Given the description of an element on the screen output the (x, y) to click on. 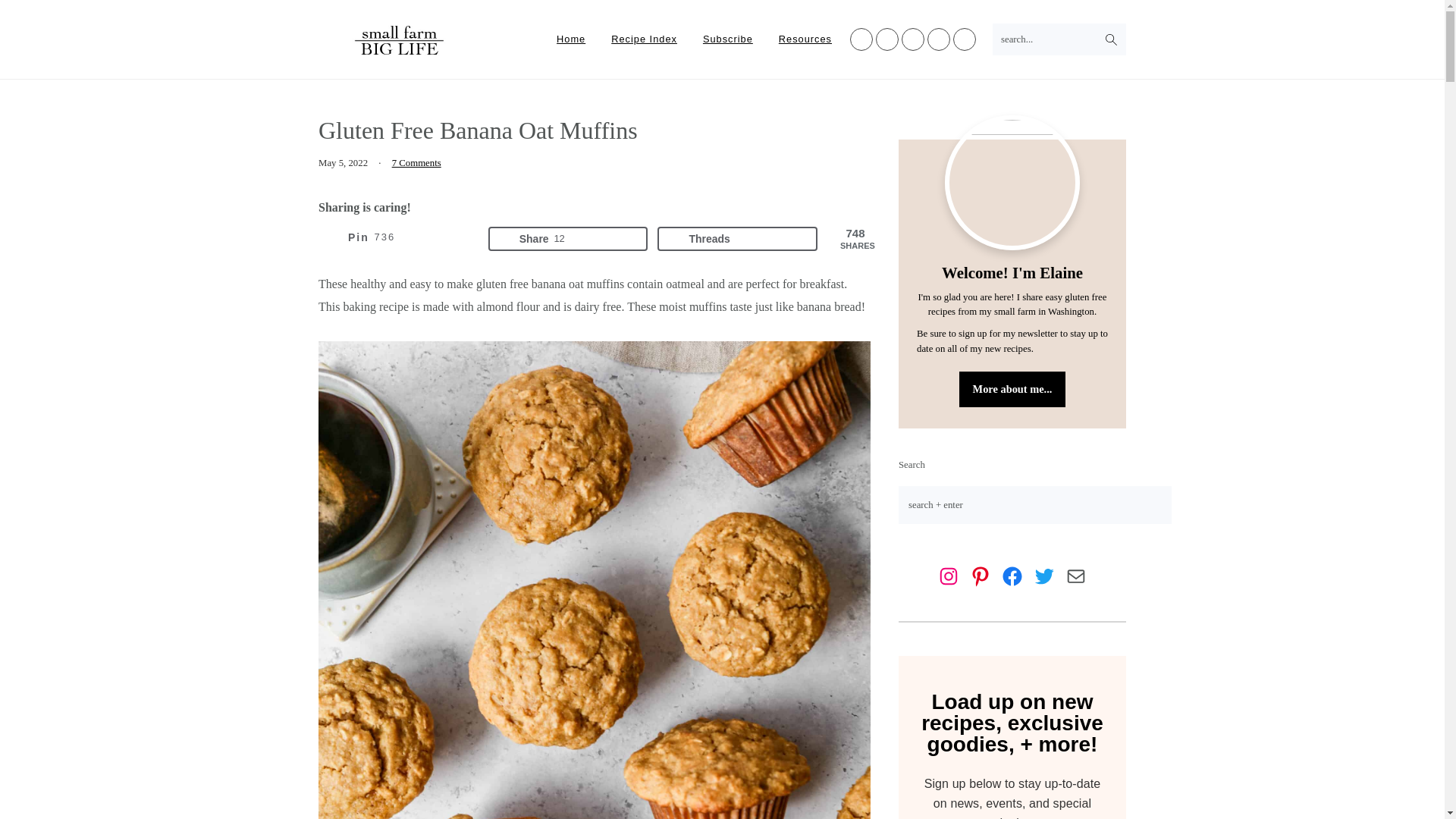
Share on Threads (737, 238)
Home (567, 238)
Recipe Index (570, 39)
Small Farm Big Life (643, 39)
7 Comments (399, 40)
Subscribe (416, 163)
Save to Pinterest (727, 39)
Skip to primary navigation (398, 238)
Threads (567, 238)
Small Farm Big Life (737, 238)
Search (399, 52)
